Given the description of an element on the screen output the (x, y) to click on. 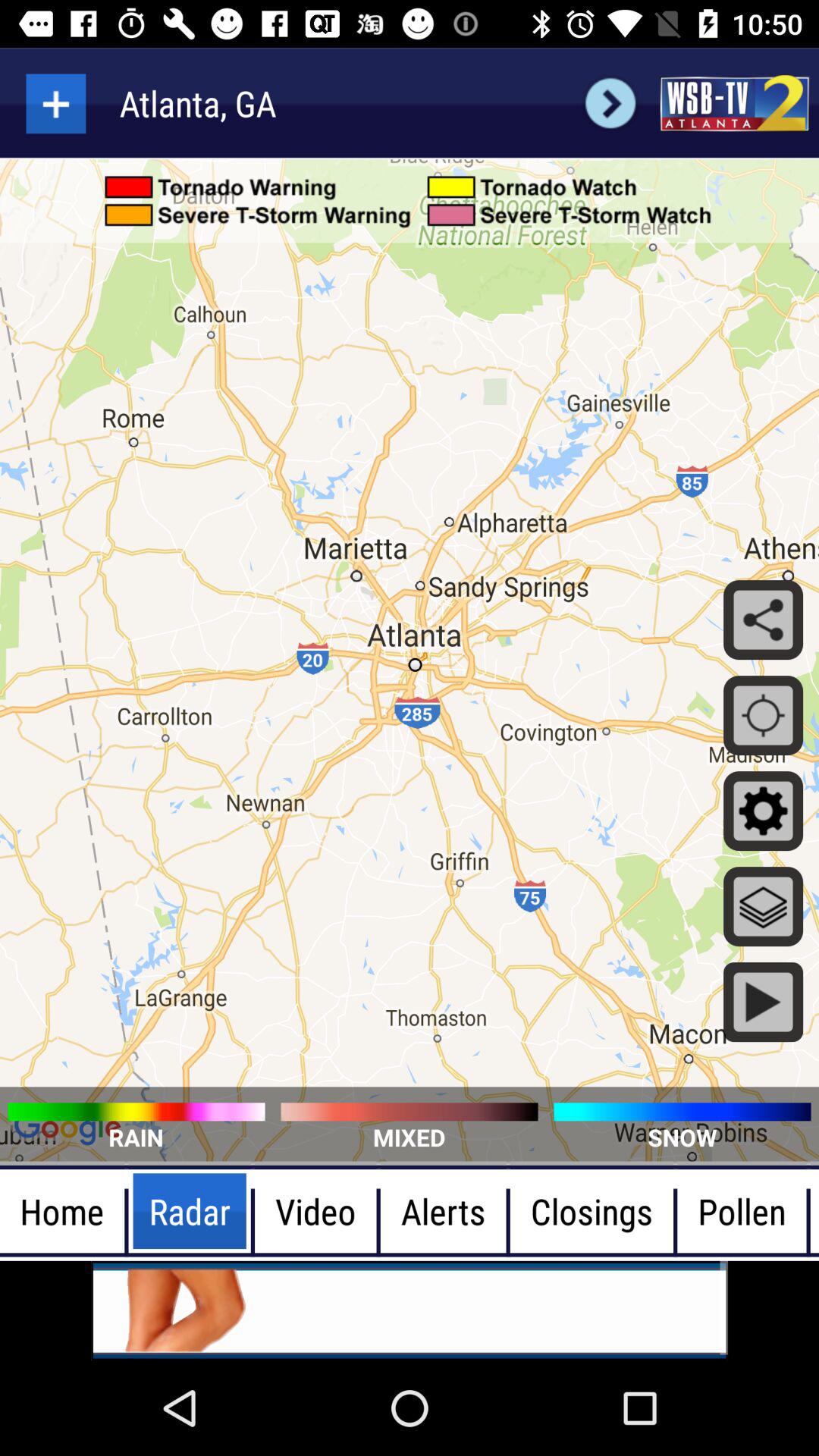
next arrow icon (610, 103)
